Given the description of an element on the screen output the (x, y) to click on. 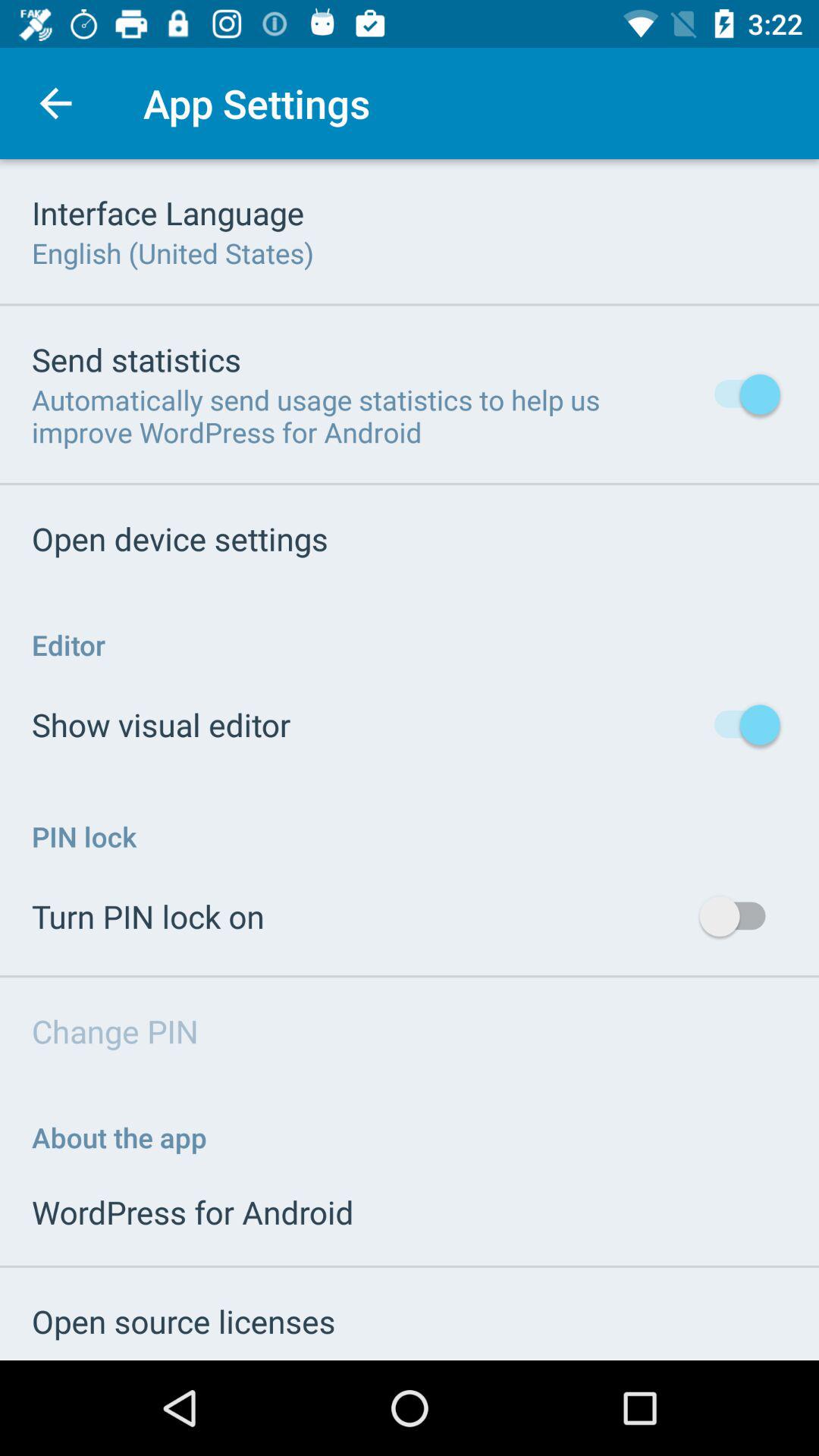
select the open source licenses icon (183, 1320)
